Given the description of an element on the screen output the (x, y) to click on. 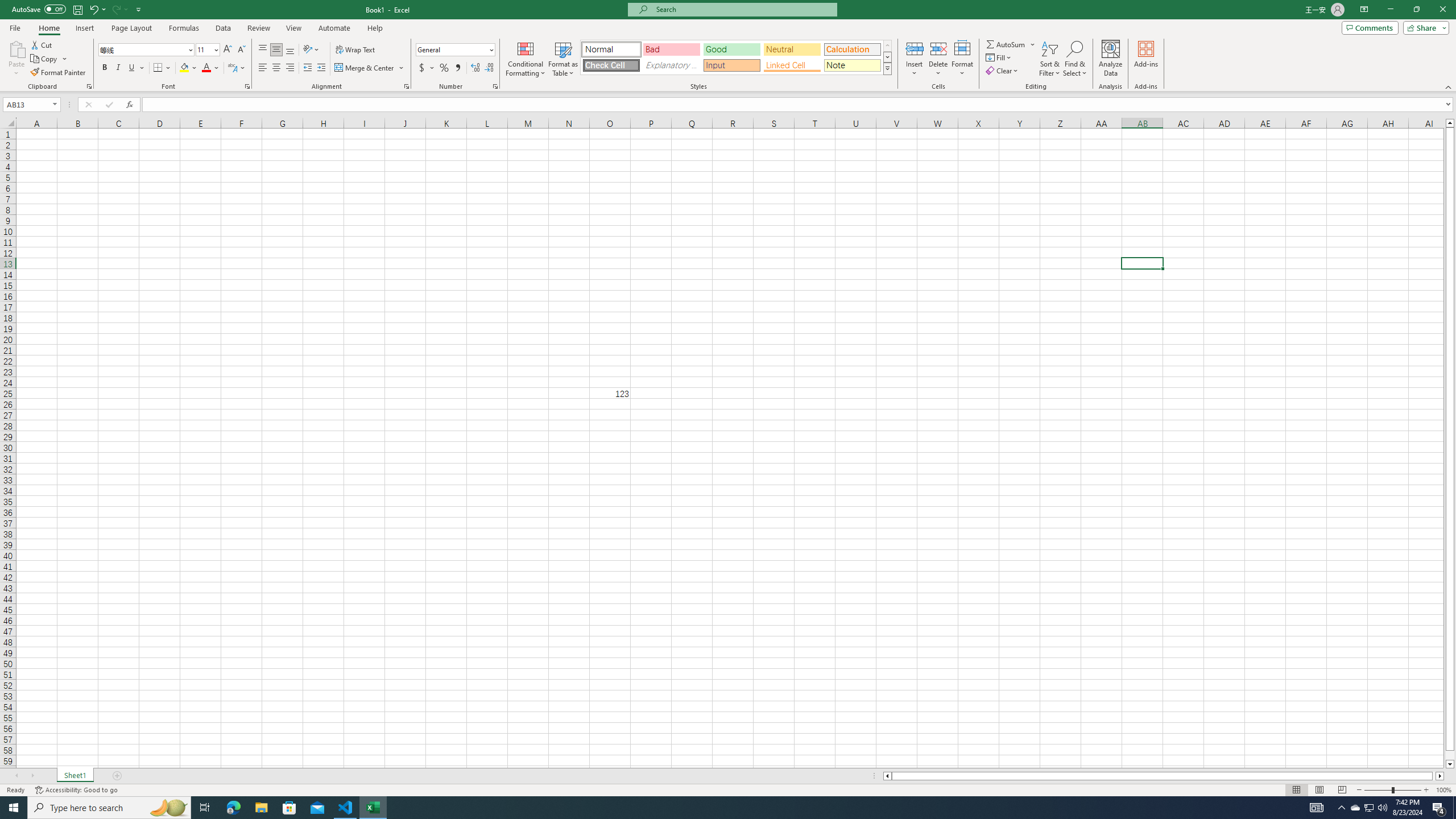
Bad (671, 49)
Add Sheet (117, 775)
Class: NetUIScrollBar (1163, 775)
Fill (999, 56)
Neutral (791, 49)
Scroll Right (32, 775)
Collapse the Ribbon (1448, 86)
Italic (118, 67)
Explanatory Text (671, 65)
Row Down (887, 56)
AutoSave (38, 9)
Sheet1 (74, 775)
Number Format (455, 49)
Comments (1369, 27)
